Given the description of an element on the screen output the (x, y) to click on. 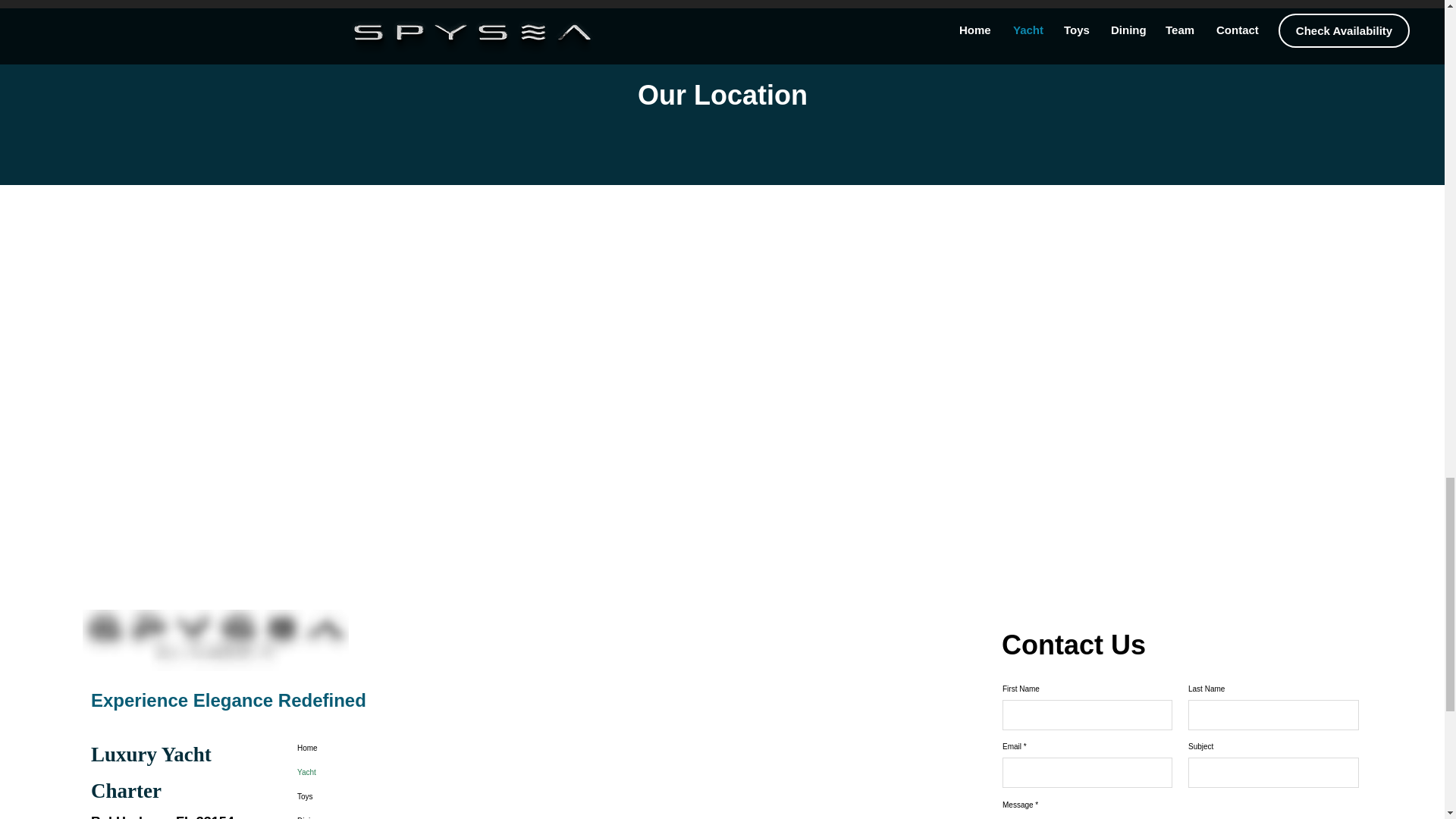
Home (366, 748)
Toys (366, 796)
Yacht (366, 772)
Dining (366, 814)
